Given the description of an element on the screen output the (x, y) to click on. 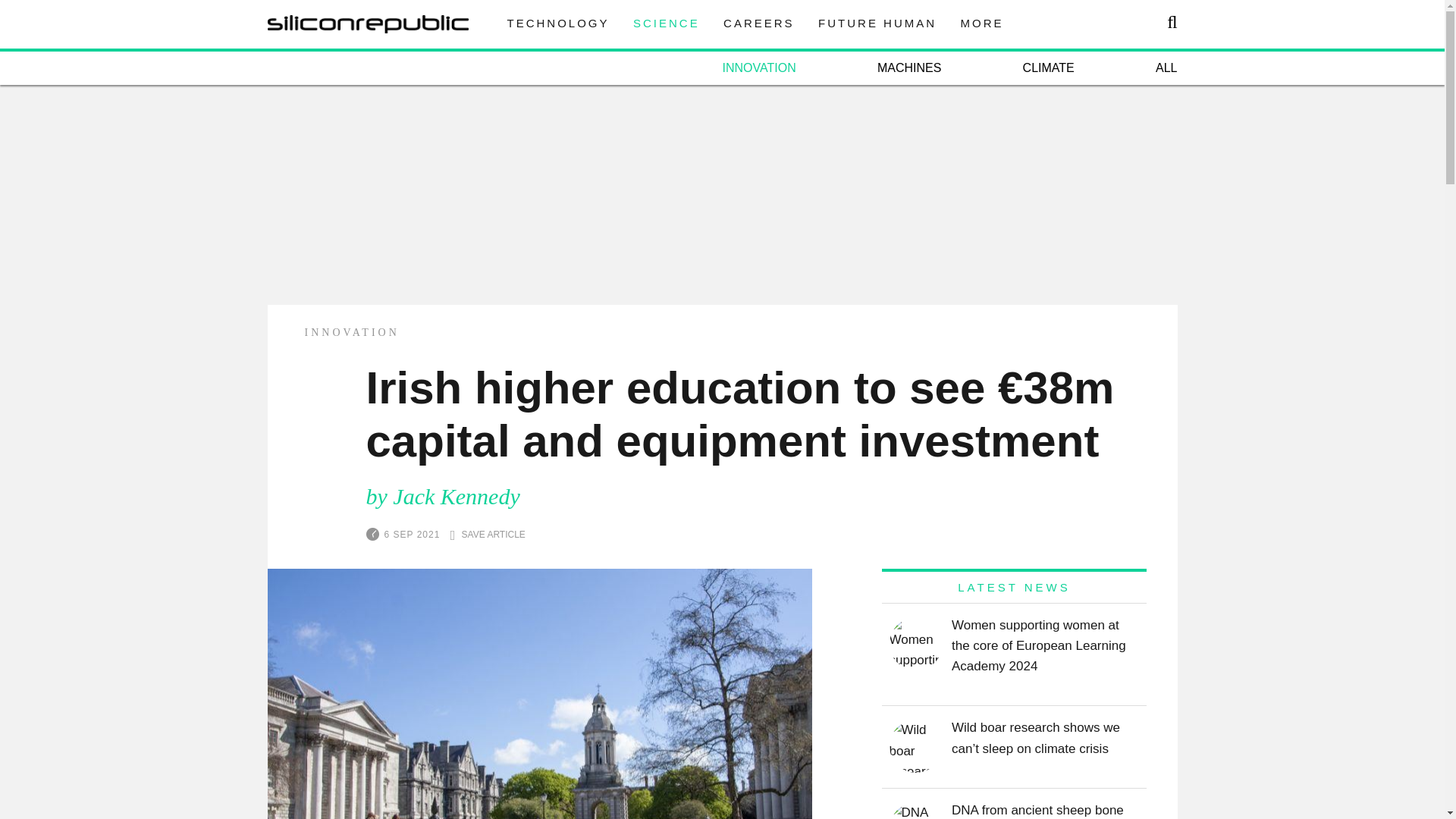
TECHNOLOGY (557, 22)
SCIENCE (666, 22)
